Given the description of an element on the screen output the (x, y) to click on. 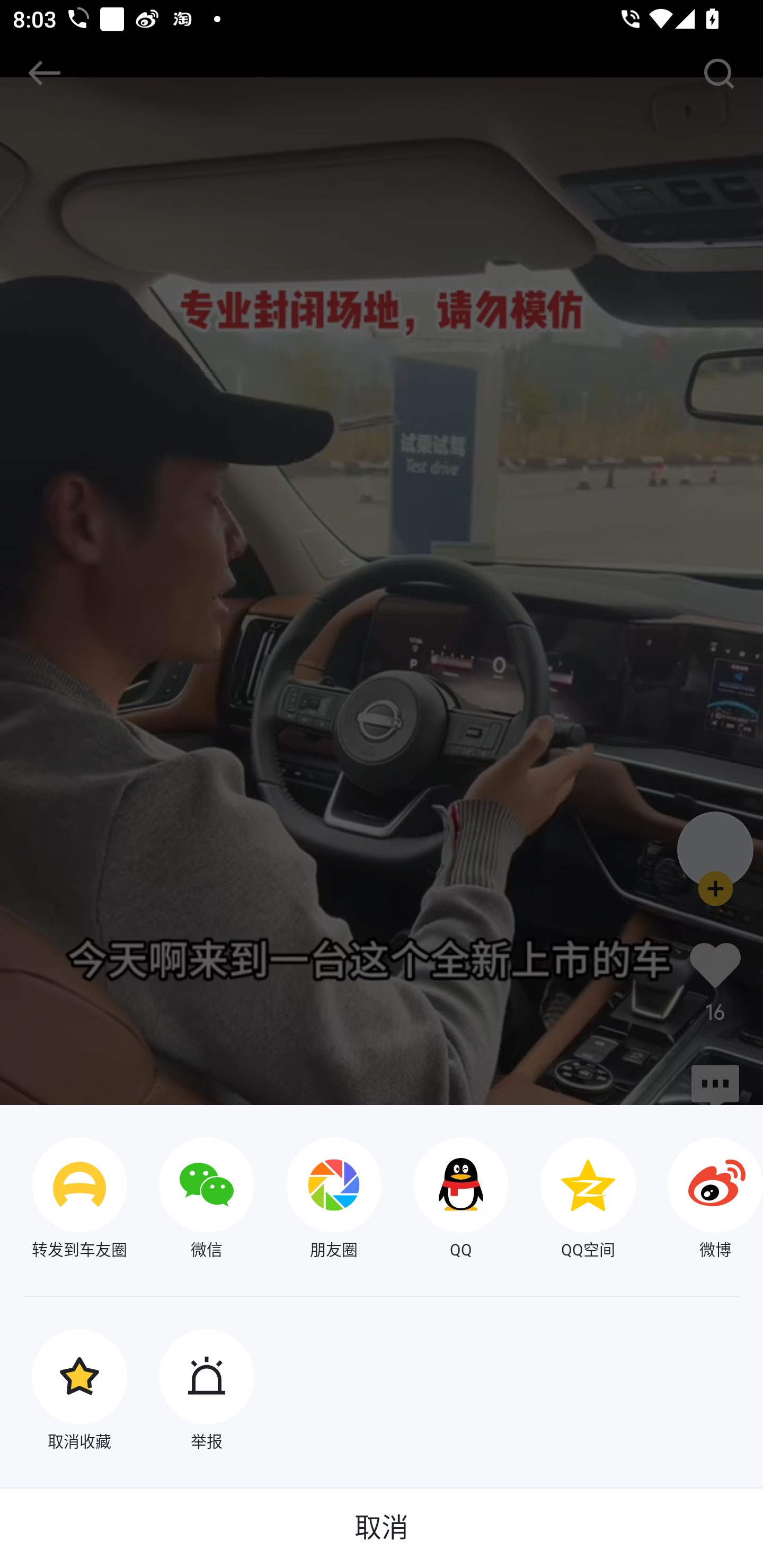
转发到车友圈 (63, 1200)
微信 (190, 1200)
朋友圈 (317, 1200)
QQ (444, 1200)
QQ空间 (571, 1200)
微博 (699, 1200)
取消收藏 (63, 1392)
 举报 (190, 1392)
取消 (381, 1528)
